Given the description of an element on the screen output the (x, y) to click on. 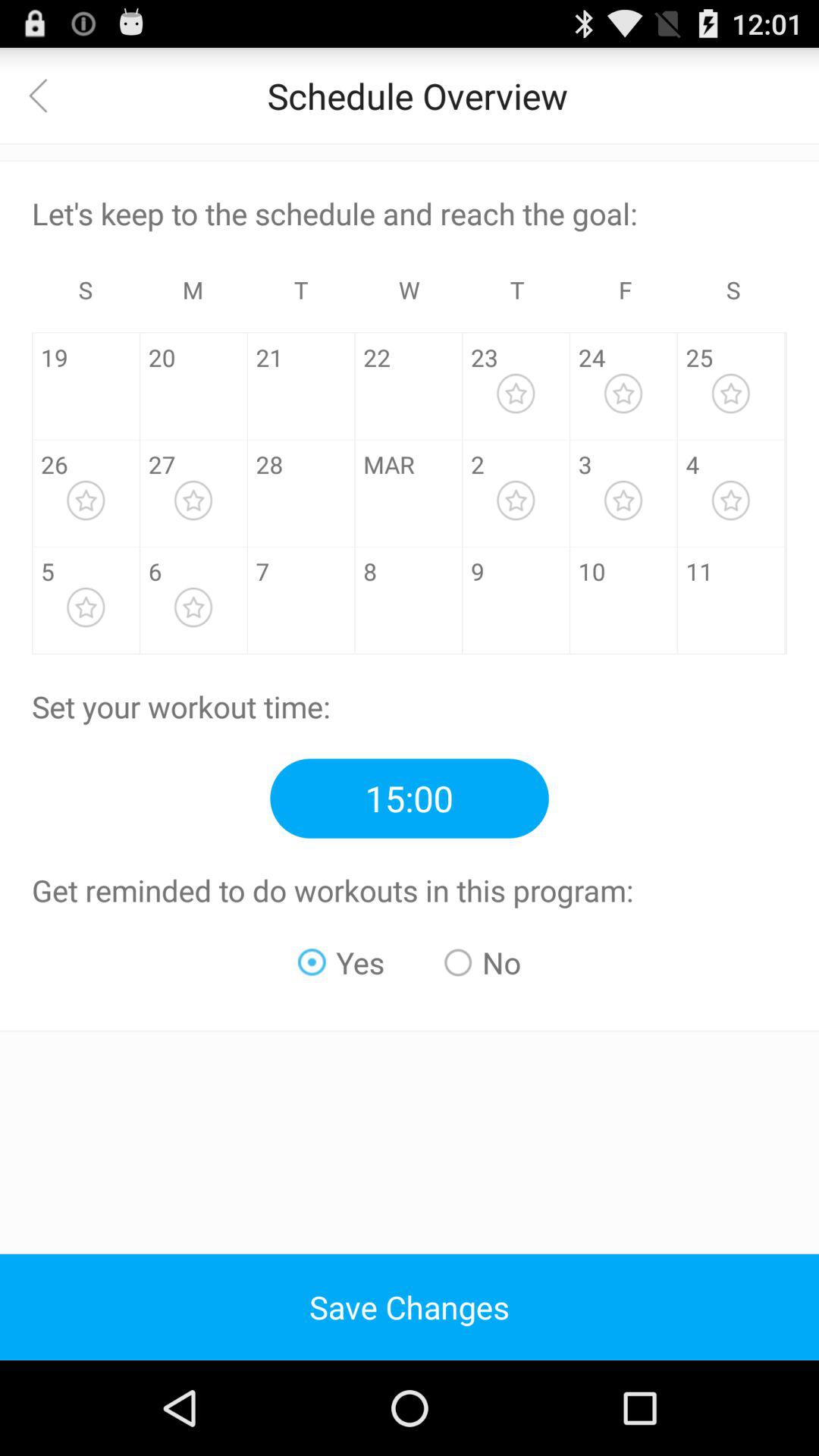
this button lets you go back (47, 95)
